Given the description of an element on the screen output the (x, y) to click on. 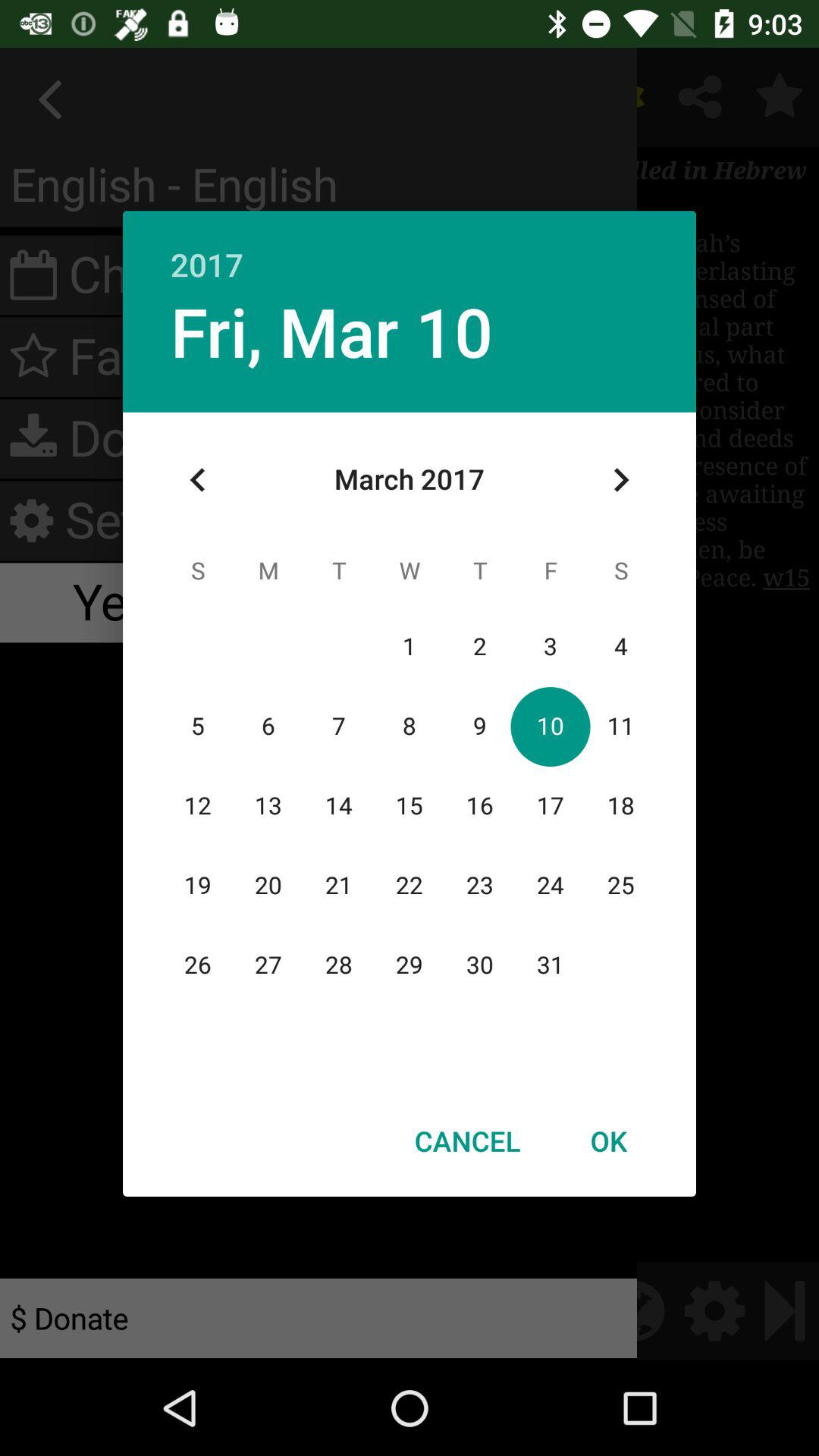
click icon at the bottom (467, 1140)
